Given the description of an element on the screen output the (x, y) to click on. 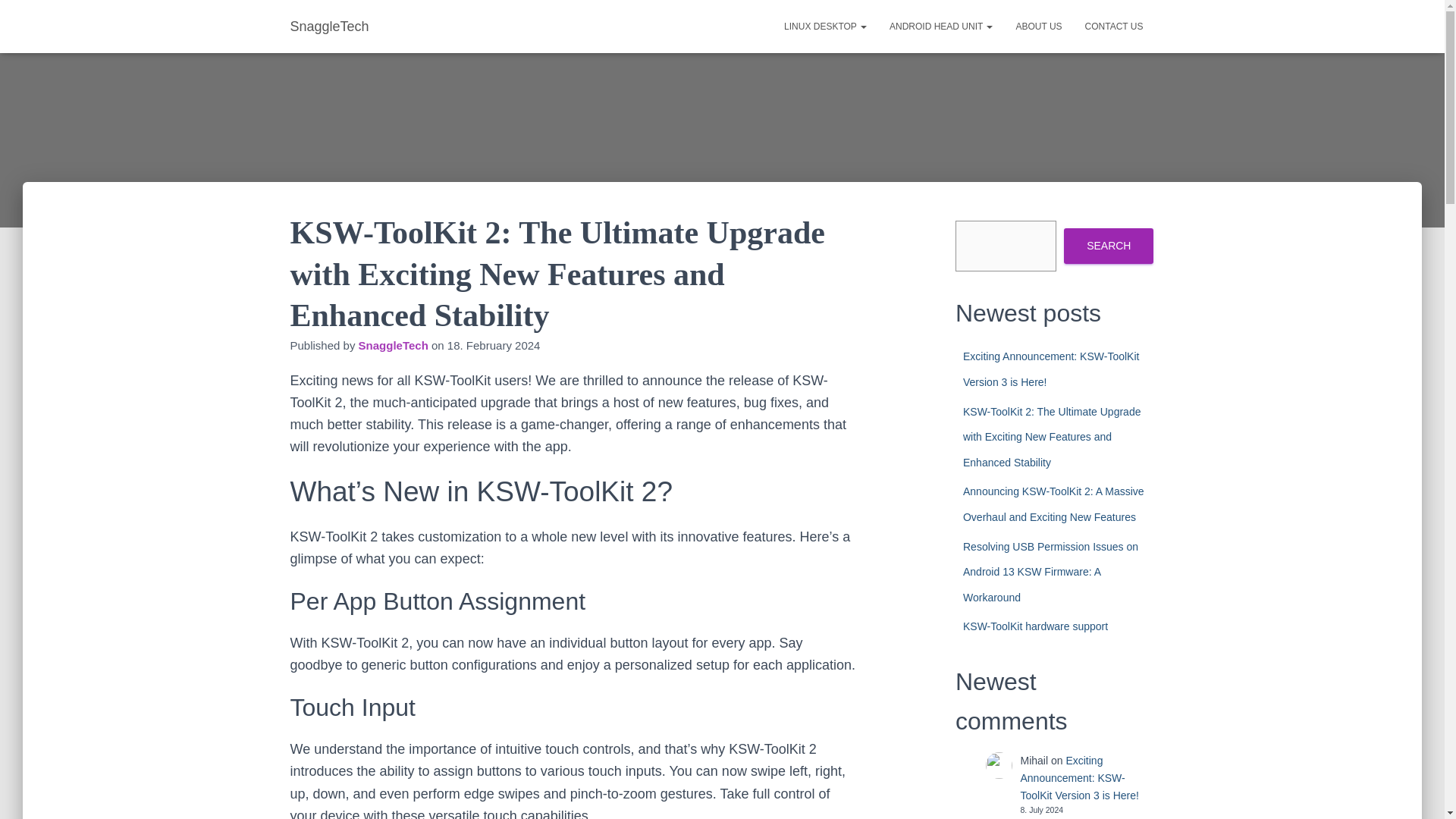
SnaggleTech (329, 26)
ABOUT US (1038, 26)
ANDROID HEAD UNIT (940, 26)
KSW-ToolKit hardware support (1035, 625)
SEARCH (1108, 245)
Exciting Announcement: KSW-ToolKit Version 3 is Here! (1079, 777)
About us (1038, 26)
Contact Us (1114, 26)
Exciting Announcement: KSW-ToolKit Version 3 is Here! (1050, 369)
SnaggleTech (393, 345)
LINUX DESKTOP (825, 26)
CONTACT US (1114, 26)
